Given the description of an element on the screen output the (x, y) to click on. 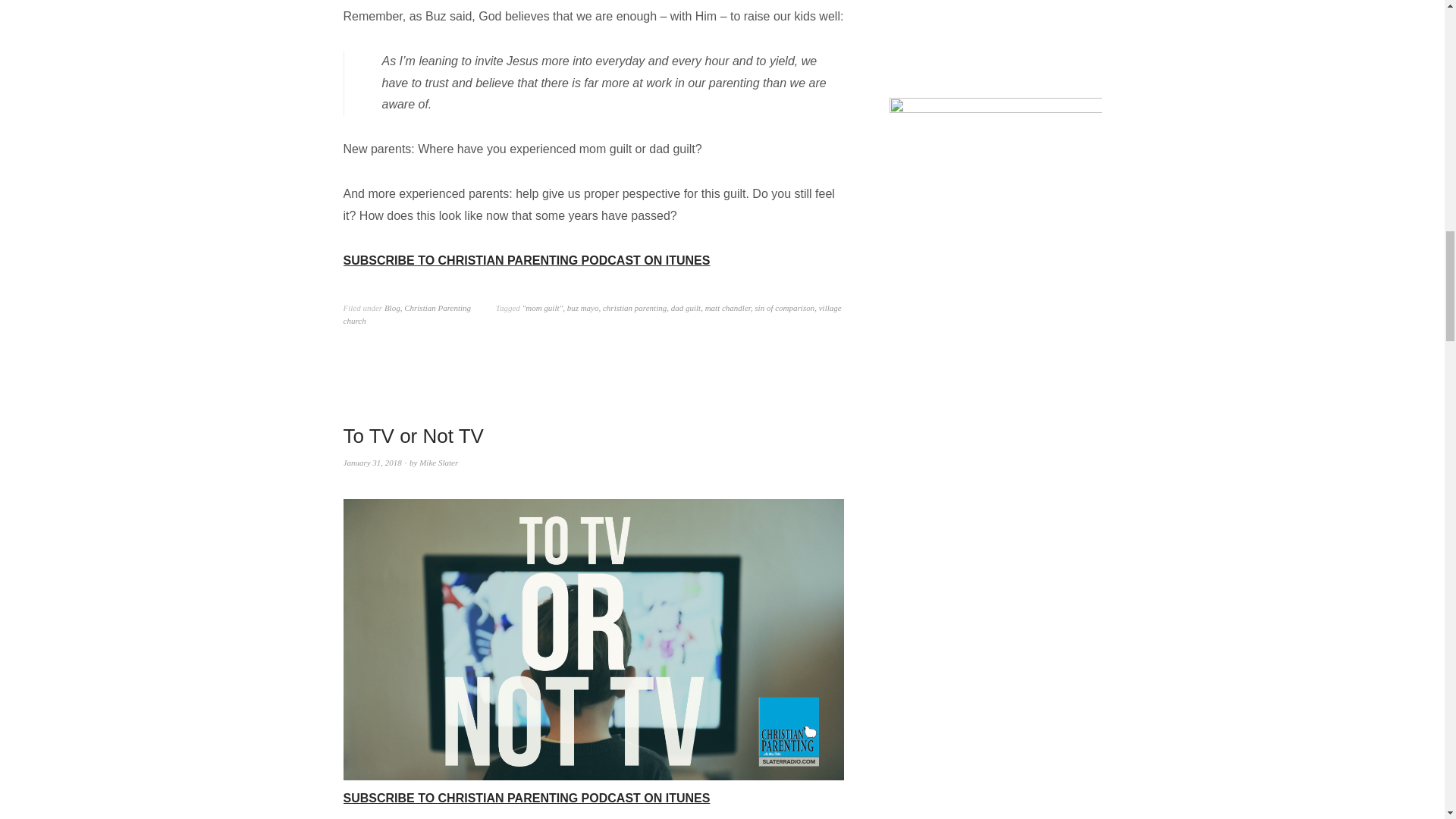
SUBSCRIBE TO CHRISTIAN PARENTING PODCAST ON ITUNES (526, 259)
All posts by Mike Slater (438, 461)
Christian Parenting (437, 307)
village church (591, 314)
SUBSCRIBE TO CHRISTIAN PARENTING PODCAST ON ITUNES (592, 786)
Mike Slater (438, 461)
To TV or Not TV (412, 436)
sin of comparison (783, 307)
buz mayo (582, 307)
"mom guilt" (542, 307)
christian parenting (634, 307)
Blog (392, 307)
dad guilt (685, 307)
January 31, 2018 (371, 461)
matt chandler (727, 307)
